Given the description of an element on the screen output the (x, y) to click on. 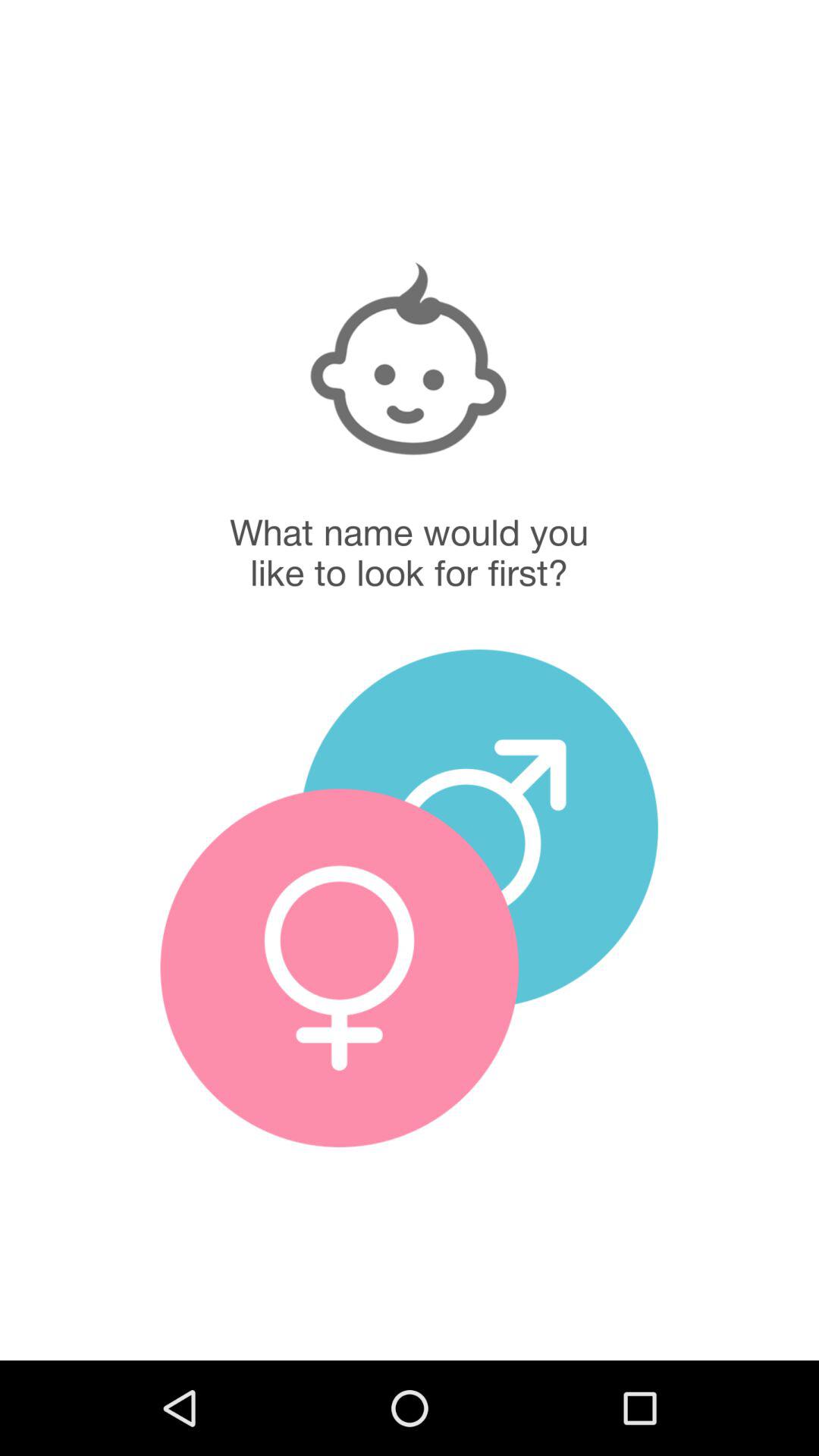
choose gender (478, 828)
